Given the description of an element on the screen output the (x, y) to click on. 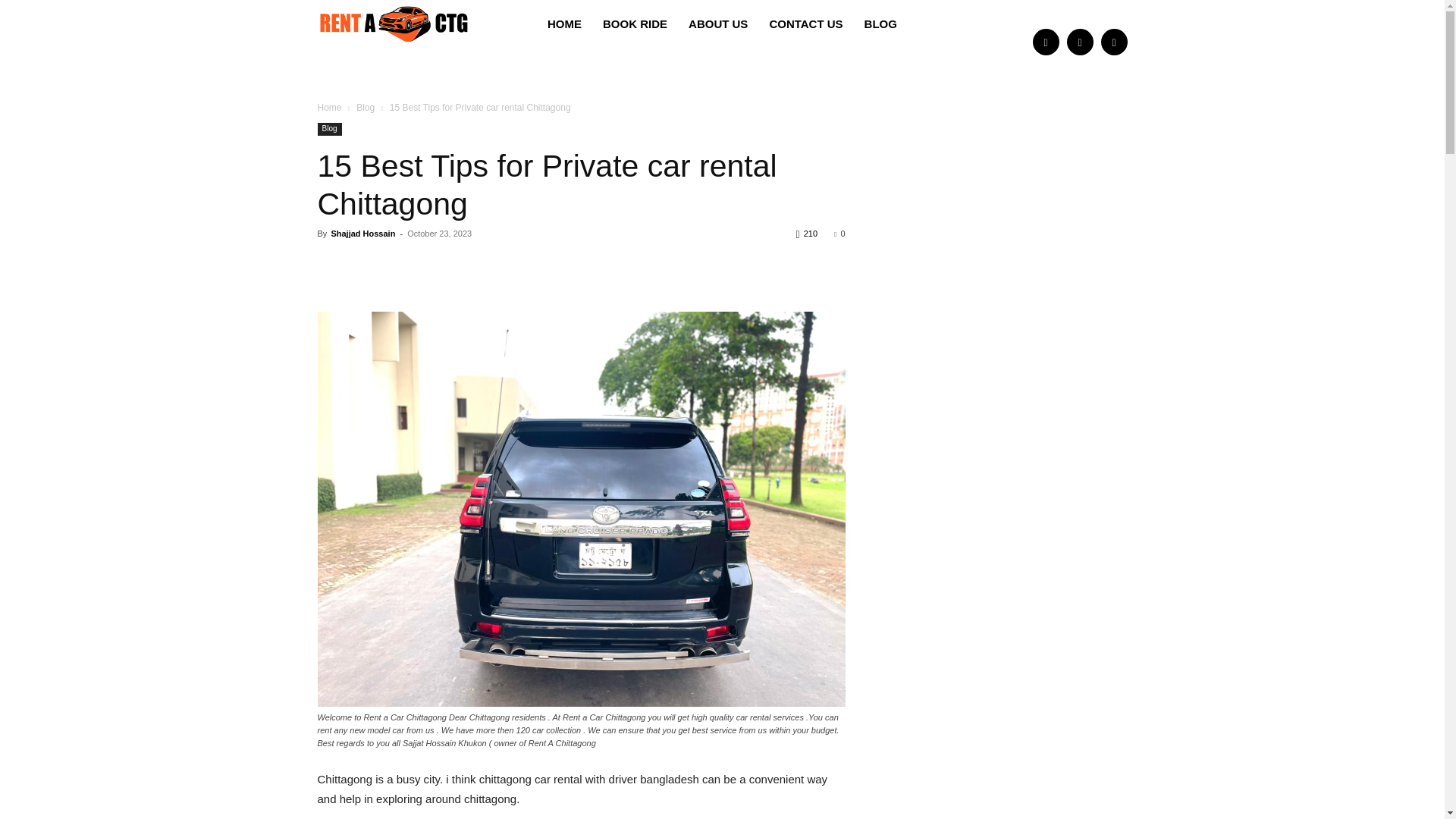
Shajjad Hossain (362, 233)
Twitter (1113, 41)
BLOG (880, 24)
CONTACT US (805, 24)
ABOUT US (718, 24)
Home (328, 107)
Blog (328, 128)
Instagram (1079, 41)
BOOK RIDE (635, 24)
Blog (365, 107)
